Given the description of an element on the screen output the (x, y) to click on. 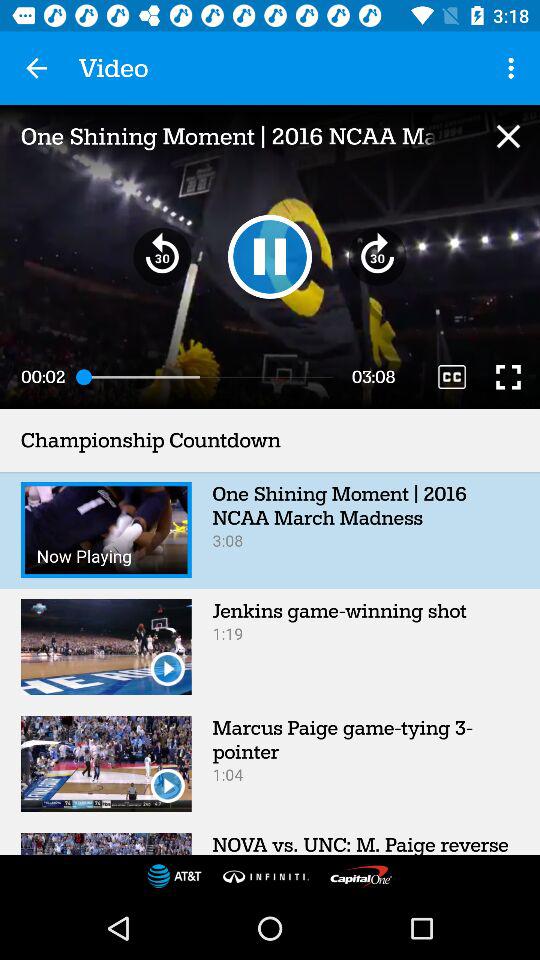
open icon below one shining moment (270, 256)
